Given the description of an element on the screen output the (x, y) to click on. 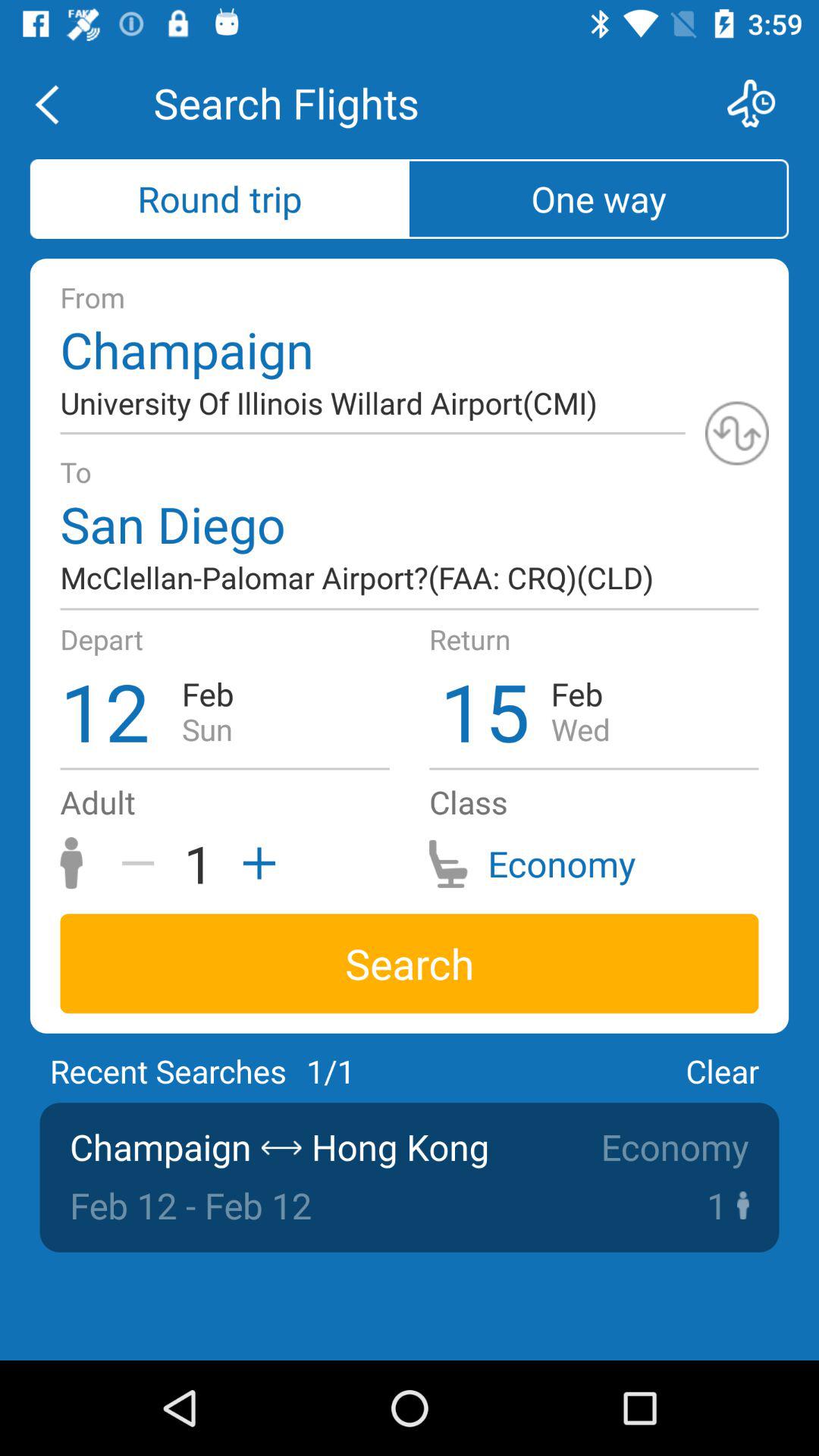
turn on the item next to the 1/1 (722, 1070)
